Given the description of an element on the screen output the (x, y) to click on. 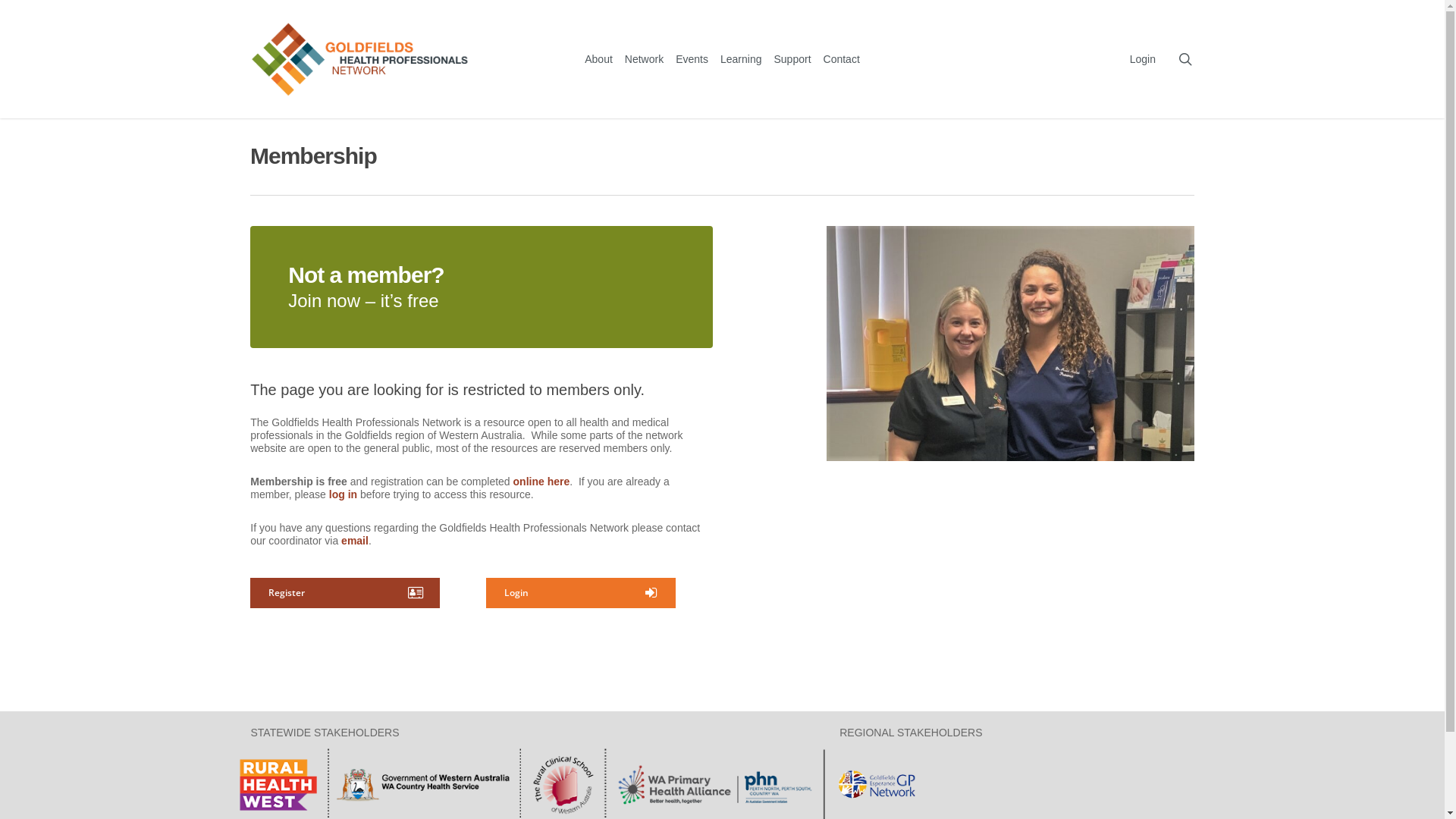
email Element type: text (354, 540)
About Element type: text (598, 58)
log in Element type: text (343, 494)
Support Element type: text (791, 58)
online here Element type: text (541, 481)
Network Element type: text (643, 58)
search Element type: text (1185, 58)
Login Element type: text (1142, 58)
Login Element type: text (580, 592)
Learning Element type: text (741, 58)
Contact Element type: text (841, 58)
Events Element type: text (691, 58)
Register Element type: text (344, 592)
